Given the description of an element on the screen output the (x, y) to click on. 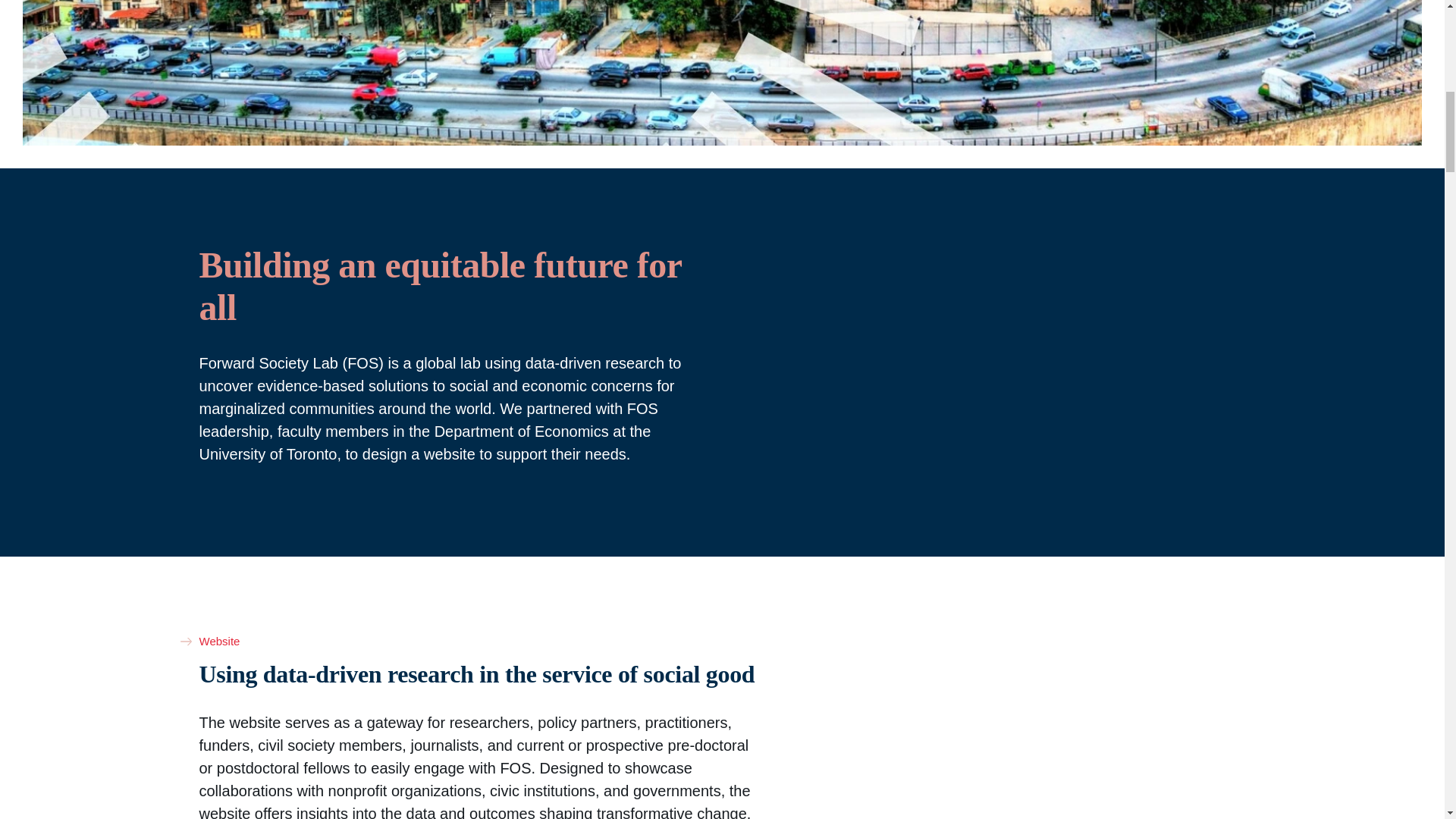
Website (219, 640)
